Given the description of an element on the screen output the (x, y) to click on. 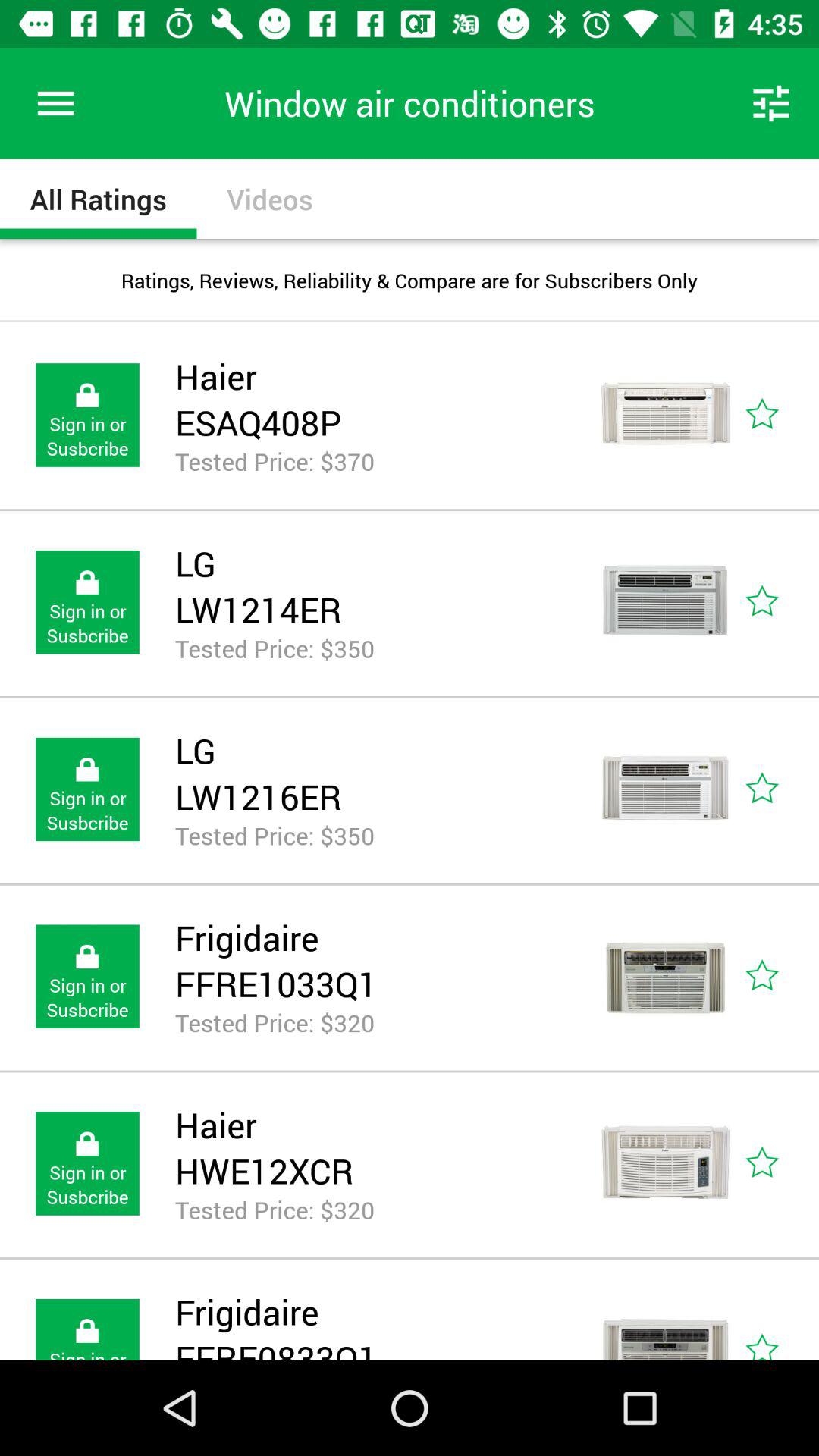
mark the star (779, 976)
